Given the description of an element on the screen output the (x, y) to click on. 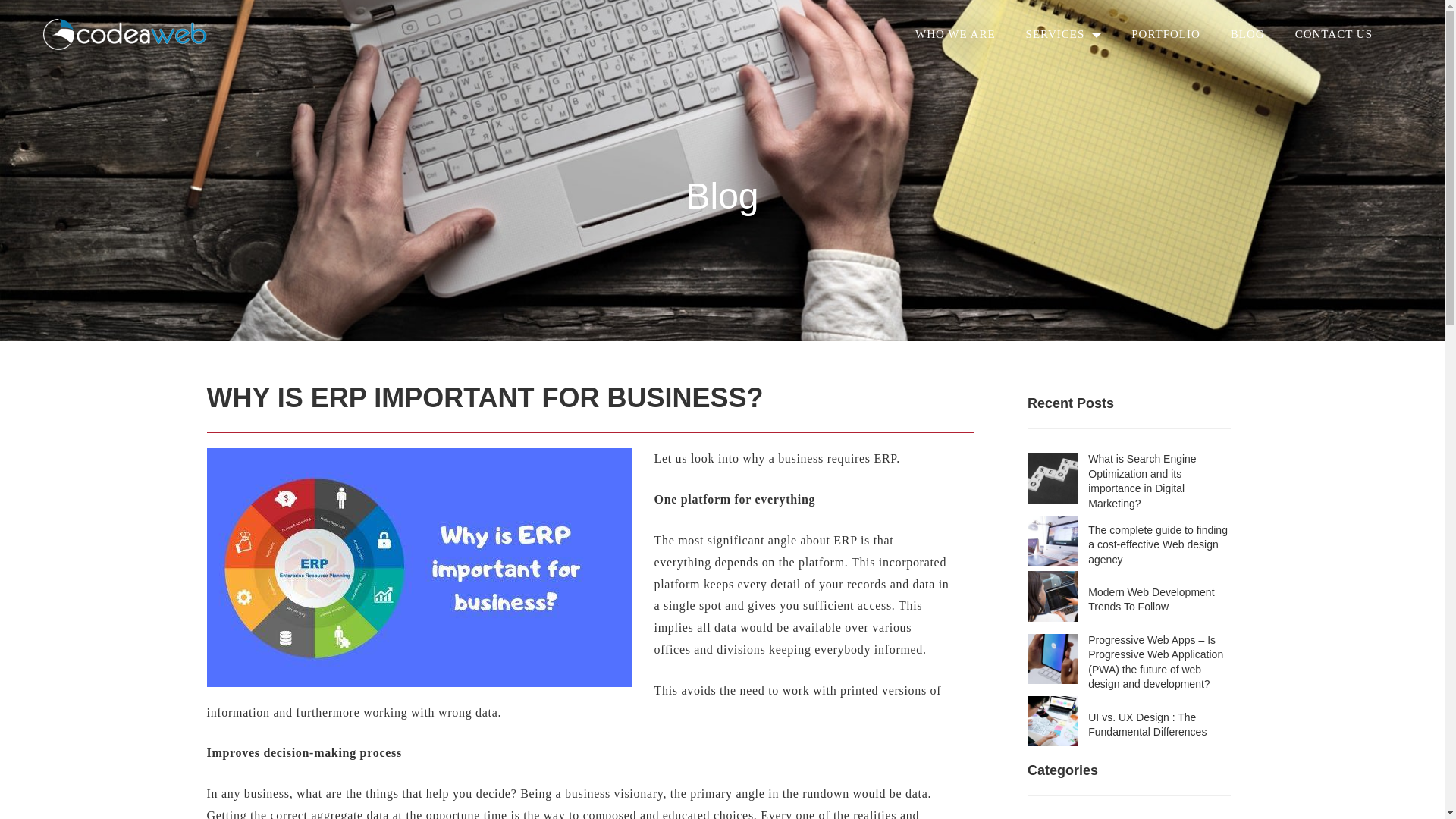
Modern Web Development Trends To Follow (1158, 600)
UI vs. UX Design : The Fundamental Differences (1158, 724)
SERVICES (1079, 26)
WHO WE ARE (970, 26)
BLOG (1262, 26)
CONTACT US (1349, 26)
PORTFOLIO (1180, 26)
